Given the description of an element on the screen output the (x, y) to click on. 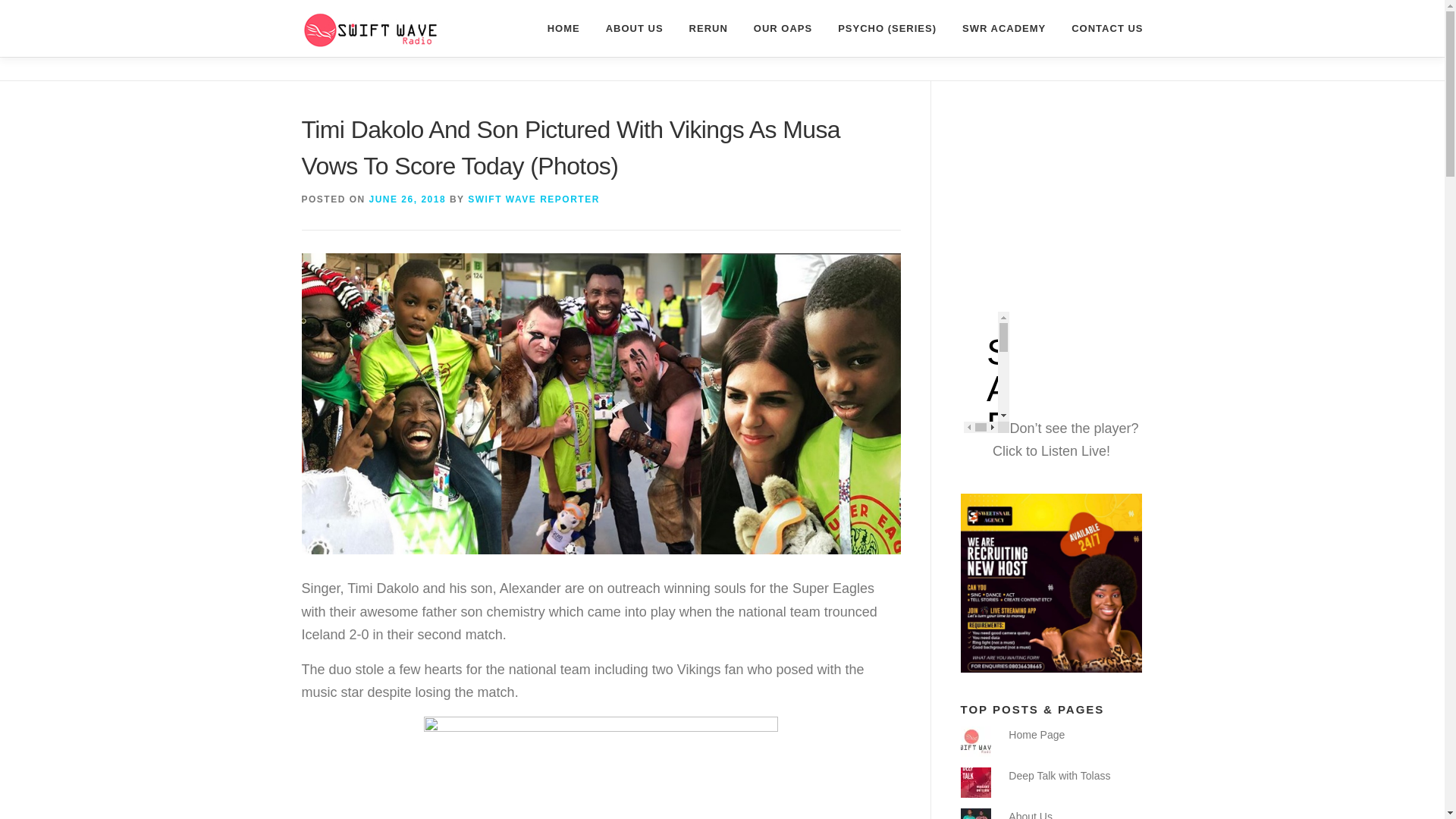
ABOUT US (634, 28)
RERUN (709, 28)
JUNE 26, 2018 (407, 199)
HOME (563, 28)
SWR ACADEMY (1003, 28)
CONTACT US (1100, 28)
SWIFT WAVE REPORTER (533, 199)
Home Page (1036, 734)
OUR OAPS (783, 28)
Home Page (1036, 734)
